Given the description of an element on the screen output the (x, y) to click on. 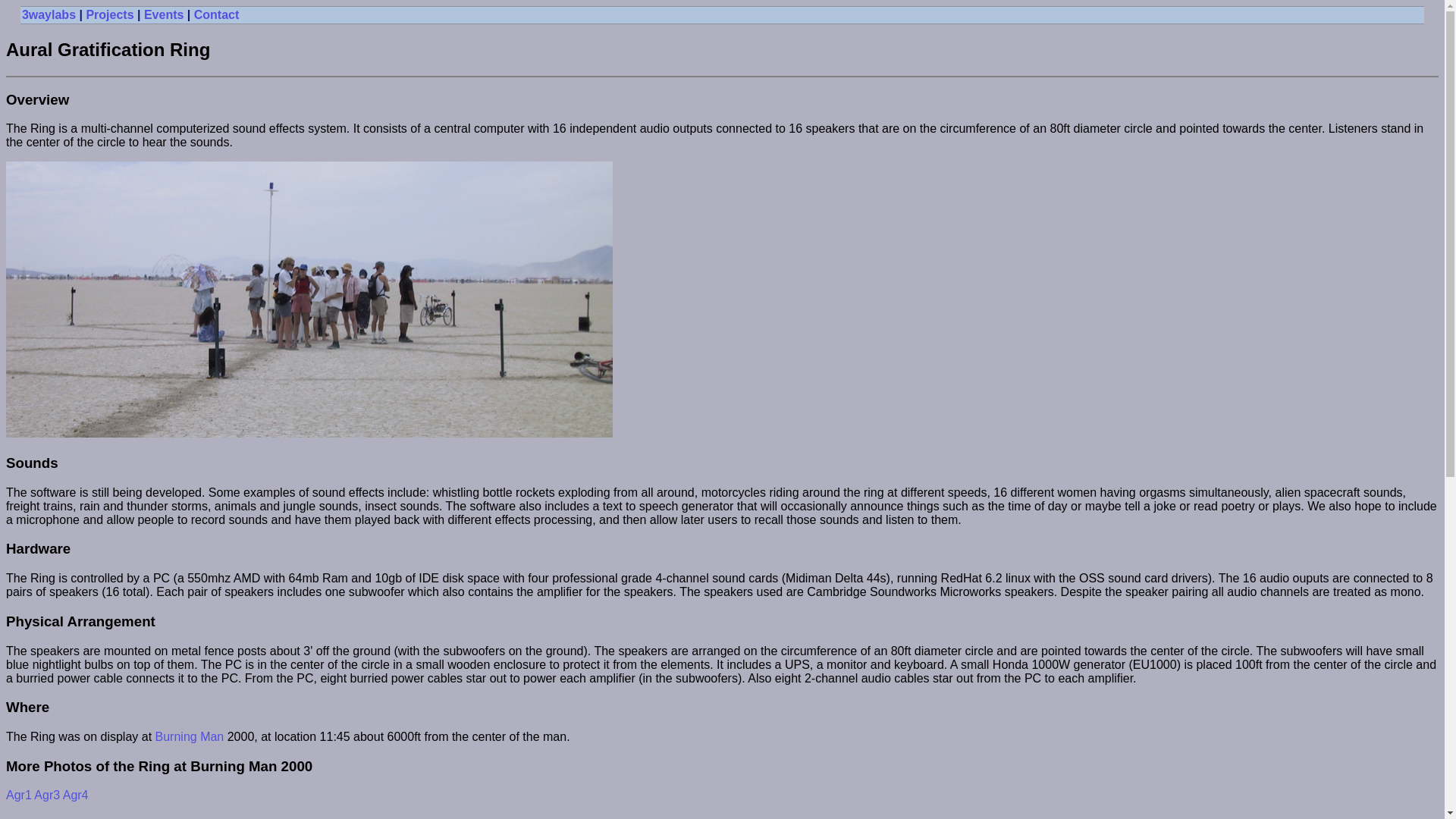
Events Element type: text (163, 14)
Contact Element type: text (216, 14)
Agr4 Element type: text (75, 794)
Agr3 Element type: text (46, 794)
3waylabs Element type: text (48, 14)
Agr1 Element type: text (18, 794)
Projects Element type: text (109, 14)
Burning Man Element type: text (189, 736)
